Given the description of an element on the screen output the (x, y) to click on. 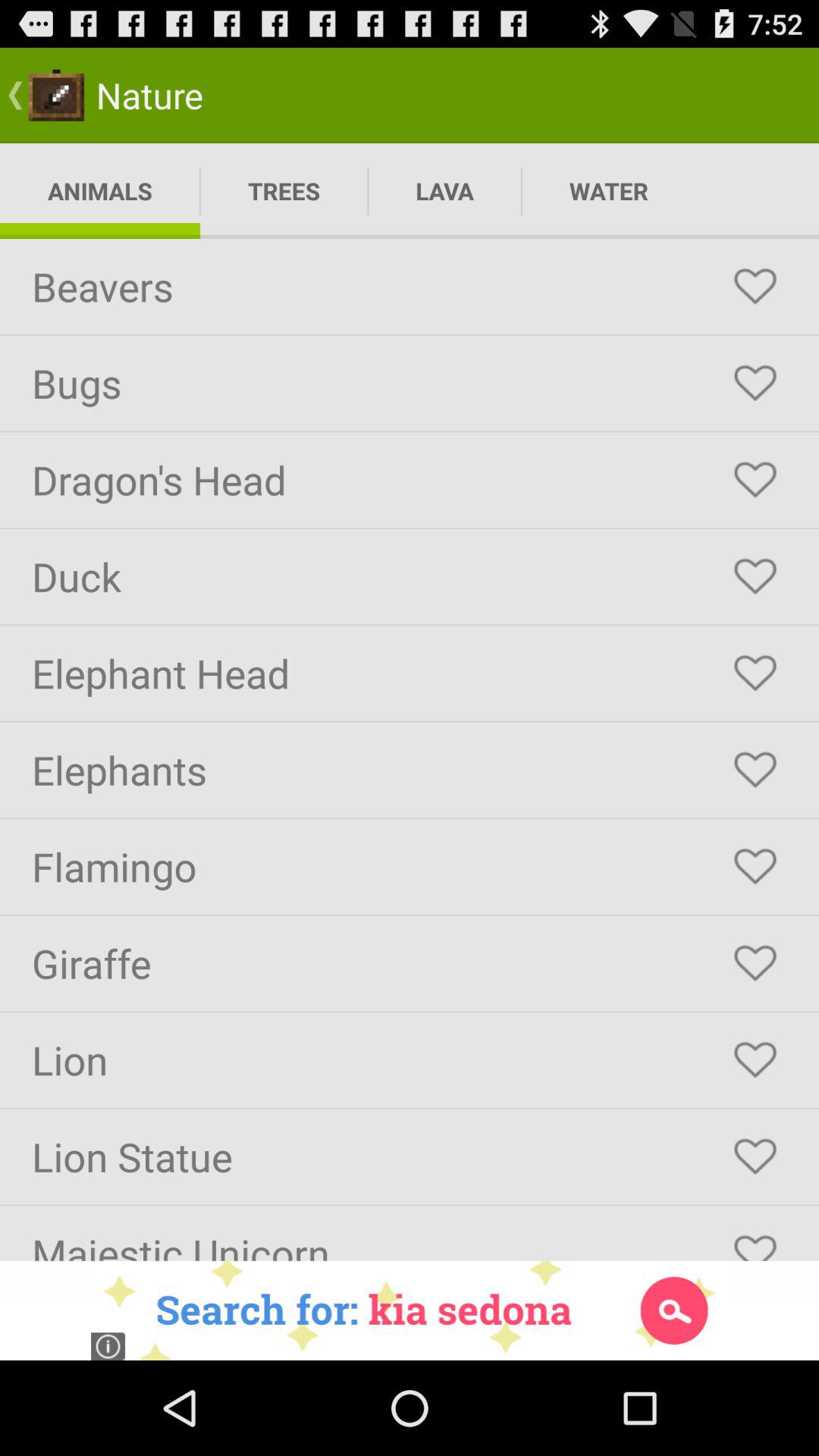
toggle favorite (755, 1156)
